Given the description of an element on the screen output the (x, y) to click on. 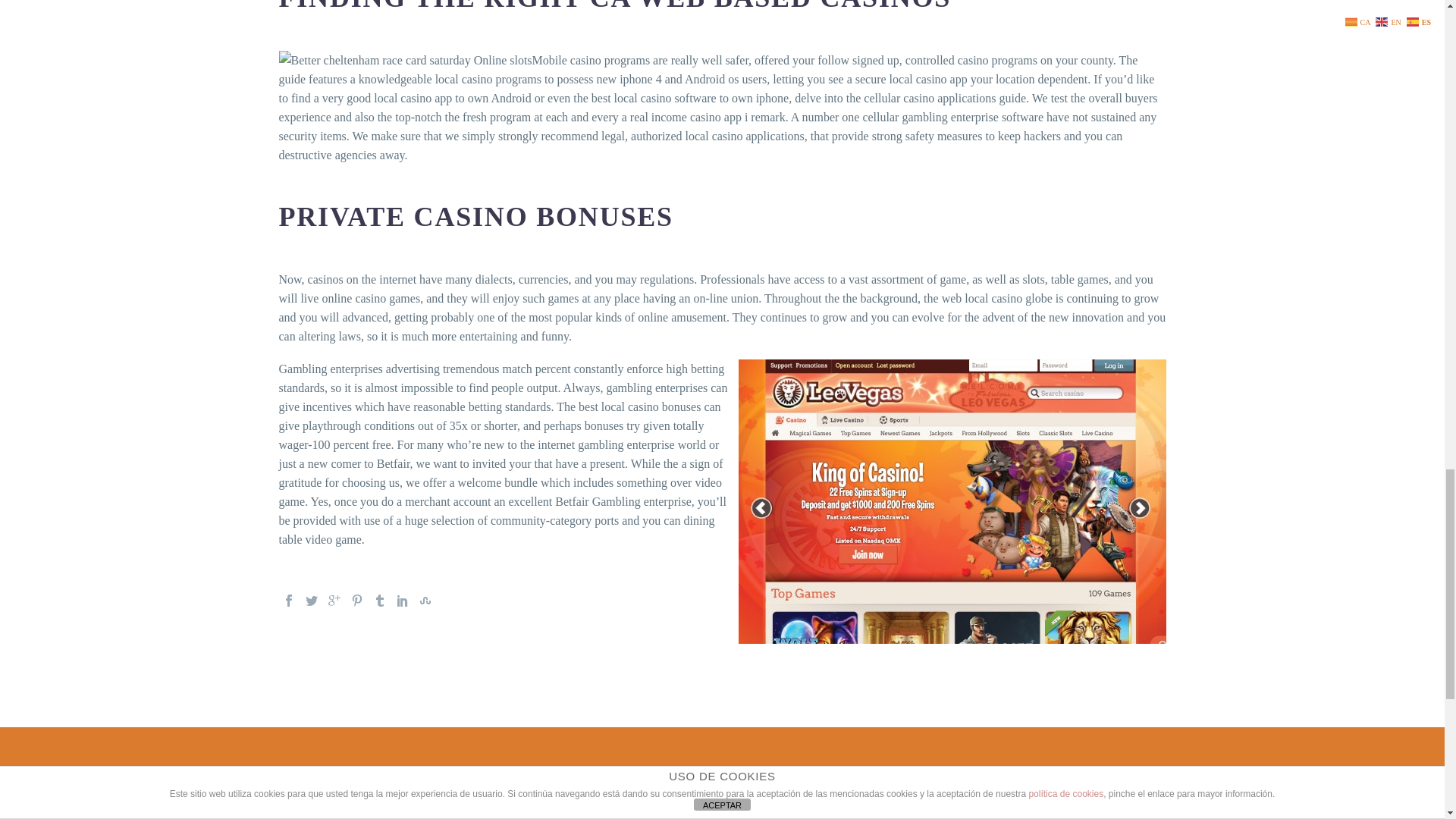
StumbleUpon (424, 600)
LinkedIn (401, 600)
Tumblr (378, 600)
Twitter (310, 600)
Pinterest (356, 600)
Google Plus (333, 600)
Facebook (288, 600)
